Given the description of an element on the screen output the (x, y) to click on. 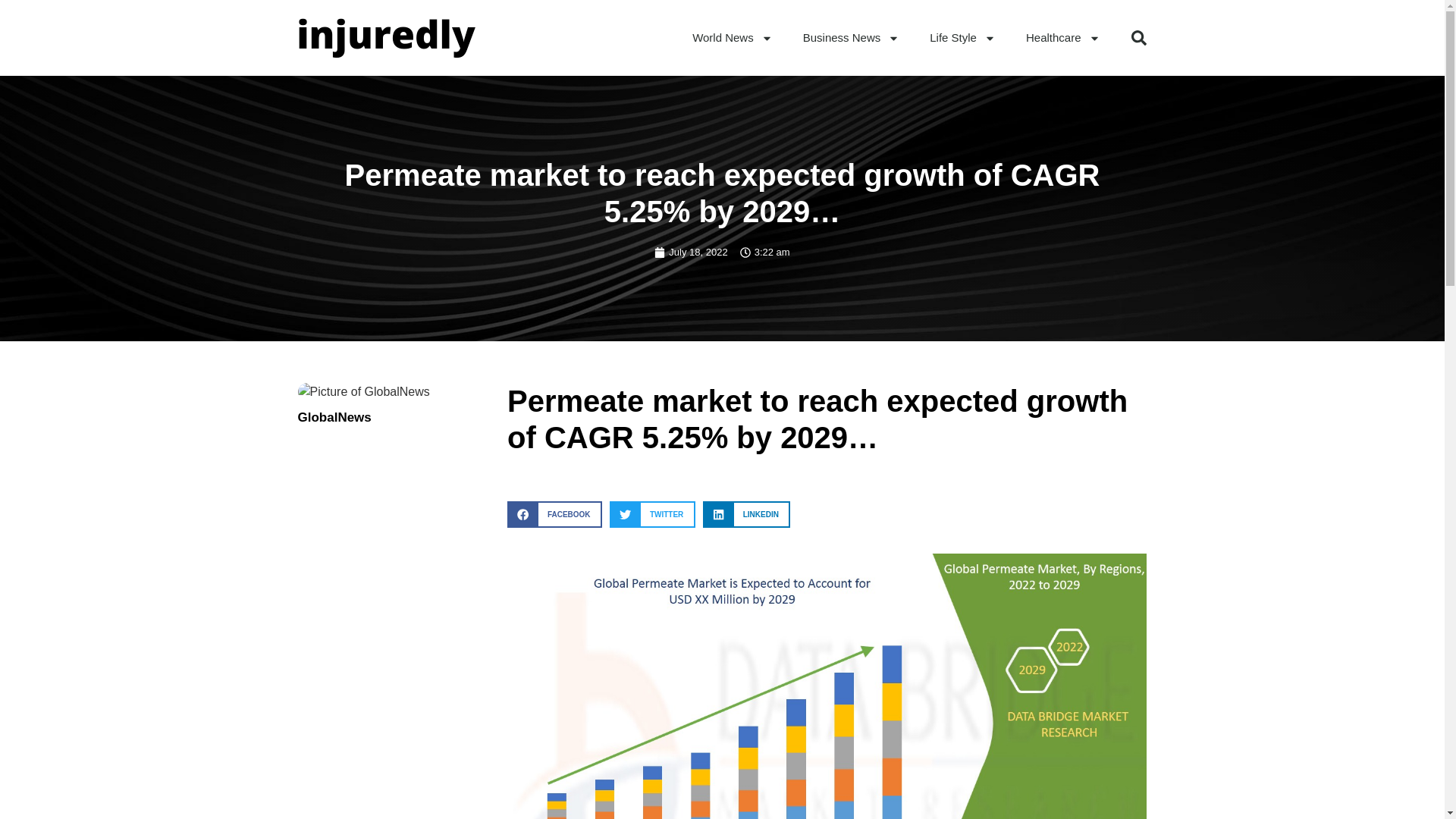
World News (732, 38)
Business News (851, 38)
Life Style (962, 38)
Healthcare (1062, 38)
